Given the description of an element on the screen output the (x, y) to click on. 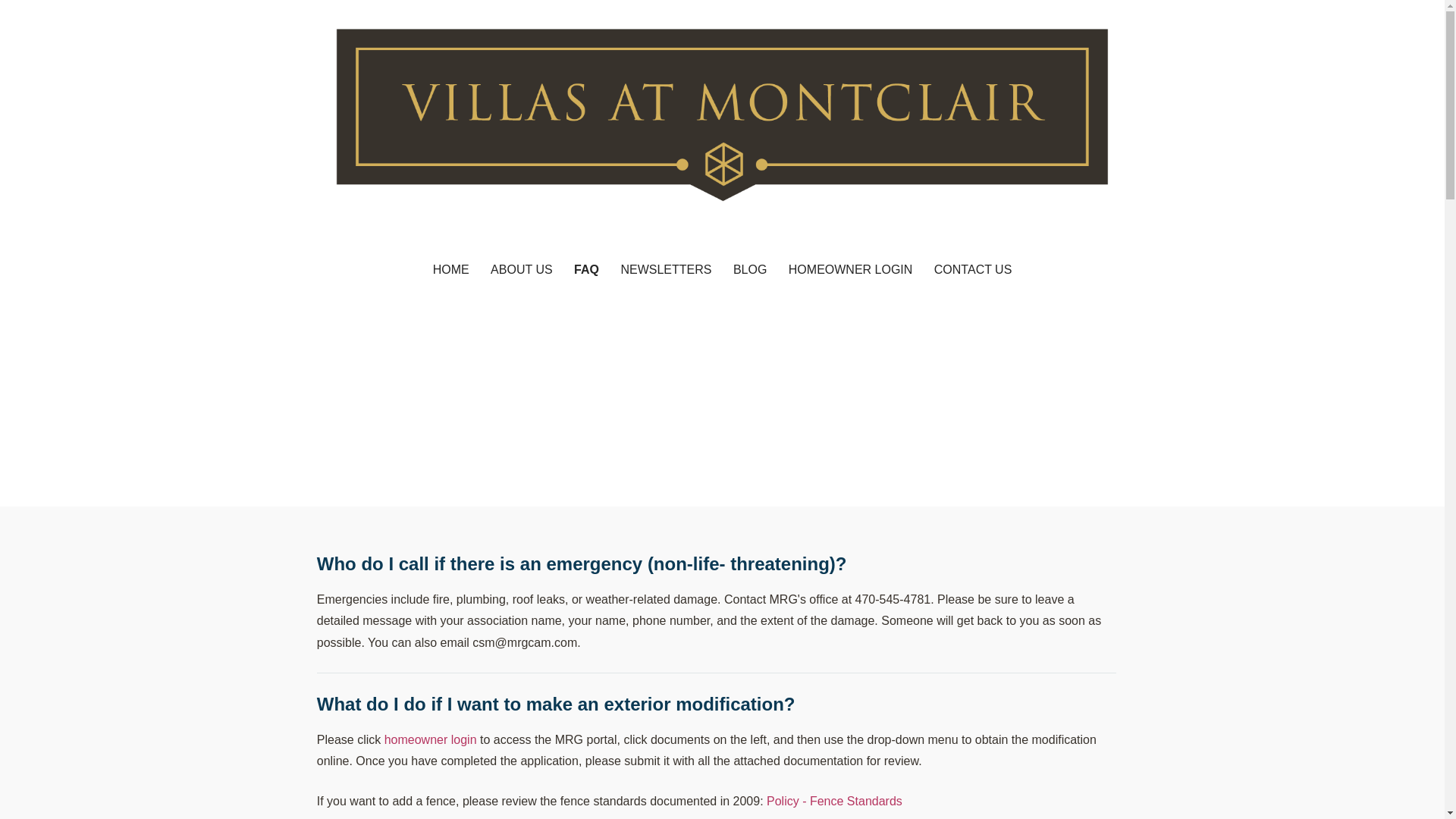
HOME (451, 269)
homeowner login (430, 739)
ABOUT US (521, 269)
CONTACT US (973, 269)
NEWSLETTERS (665, 269)
Policy - Fence Standards (834, 800)
HOMEOWNER LOGIN (849, 269)
